Given the description of an element on the screen output the (x, y) to click on. 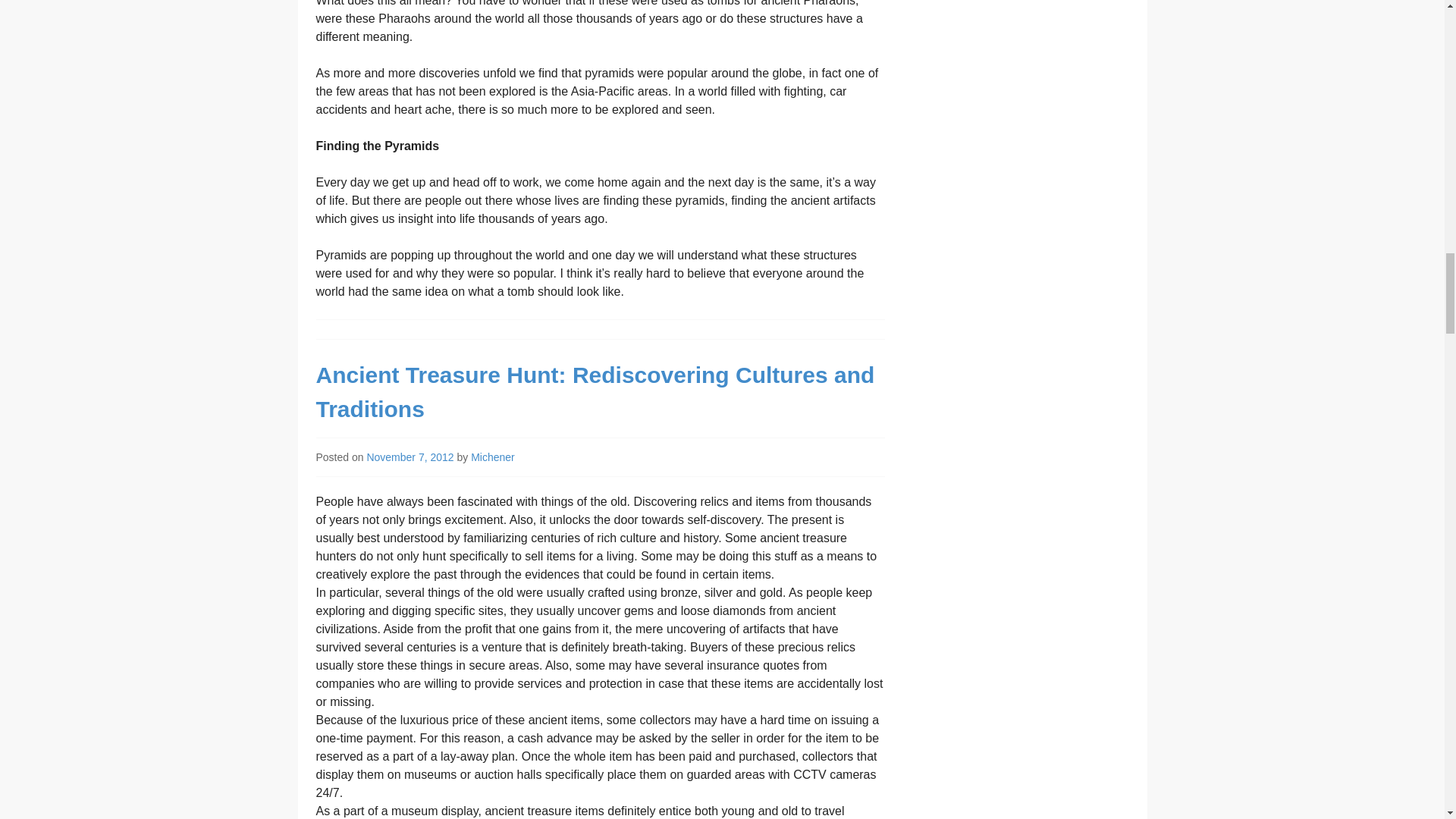
November 7, 2012 (409, 457)
Ancient Treasure Hunt: Rediscovering Cultures and Traditions (595, 391)
Michener (492, 457)
